Given the description of an element on the screen output the (x, y) to click on. 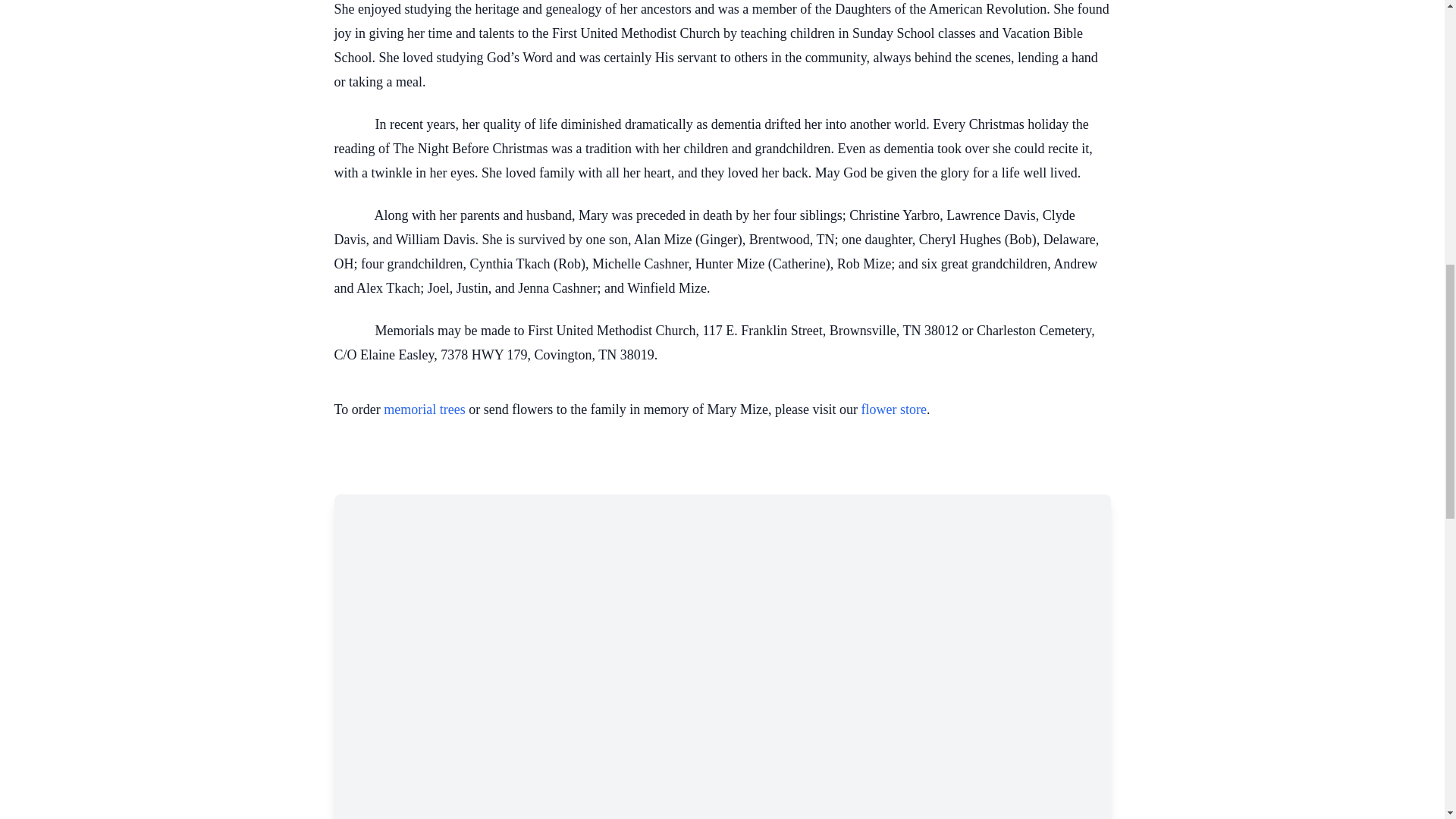
memorial trees (424, 409)
flower store (893, 409)
